Given the description of an element on the screen output the (x, y) to click on. 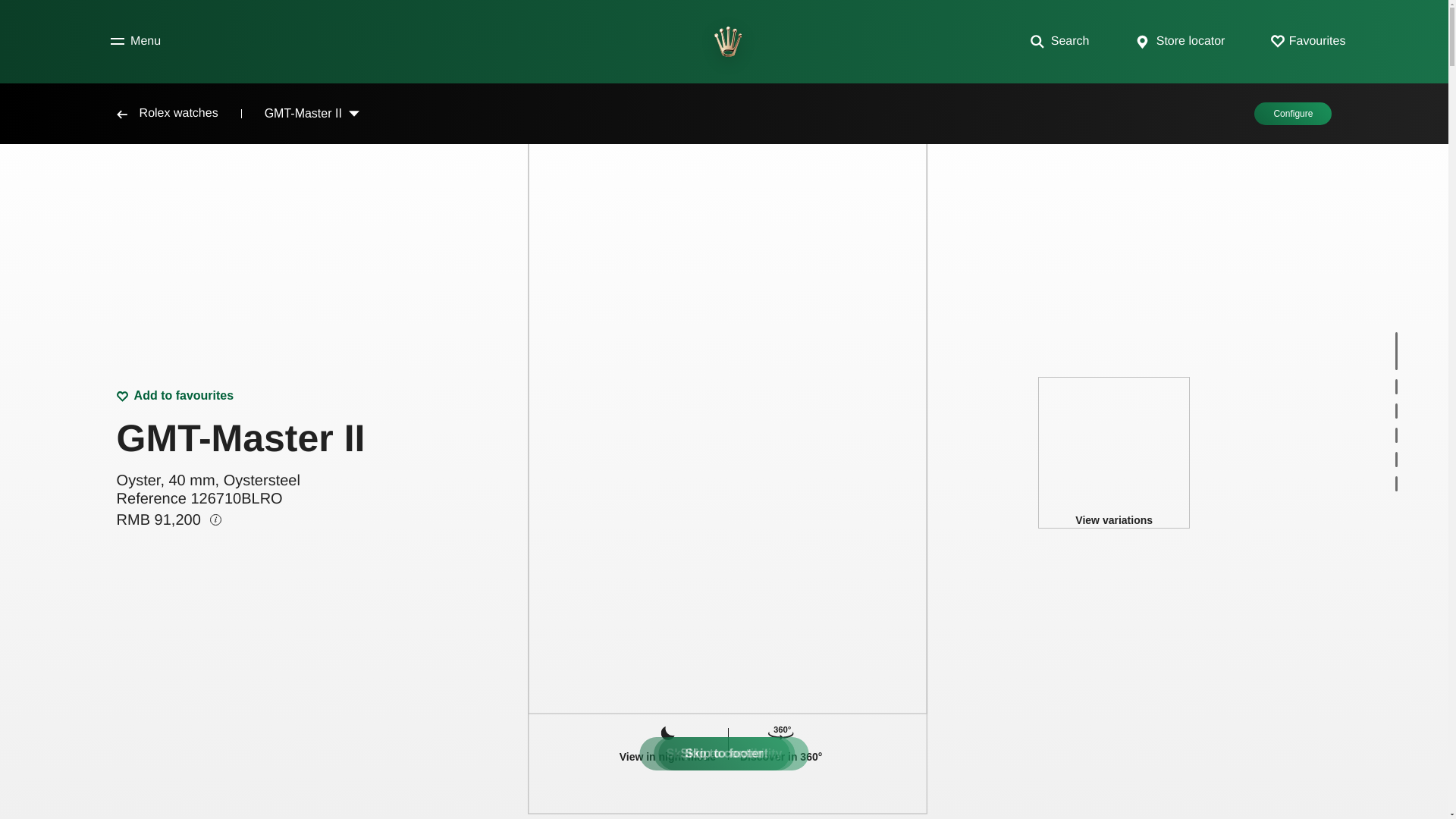
Rolex watches (120, 113)
Favourites (1308, 41)
Search (1059, 41)
Skip to accessibility (724, 753)
Menu (135, 41)
GMT-Master II (748, 113)
Skip to content (723, 753)
Store locator (1179, 41)
Skip to footer (723, 753)
